Given the description of an element on the screen output the (x, y) to click on. 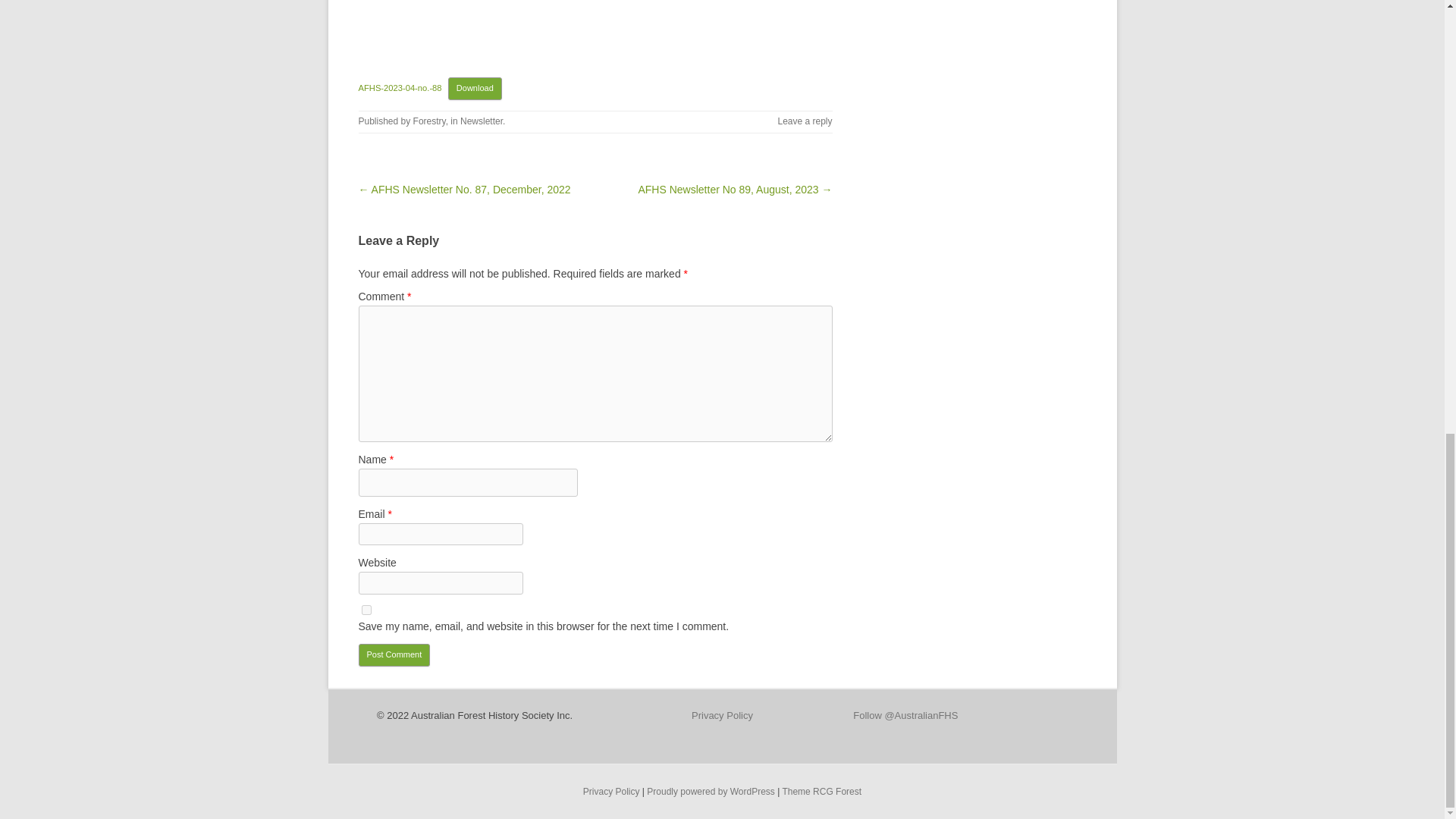
Leave a reply (804, 121)
Newsletter (481, 121)
yes (366, 610)
View all posts by Forestry (429, 121)
Post Comment (393, 654)
Semantic Personal Publishing Platform (710, 791)
Post Comment (393, 654)
AFHS-2023-04-no.-88 (399, 87)
Download (475, 87)
Forestry (429, 121)
